Given the description of an element on the screen output the (x, y) to click on. 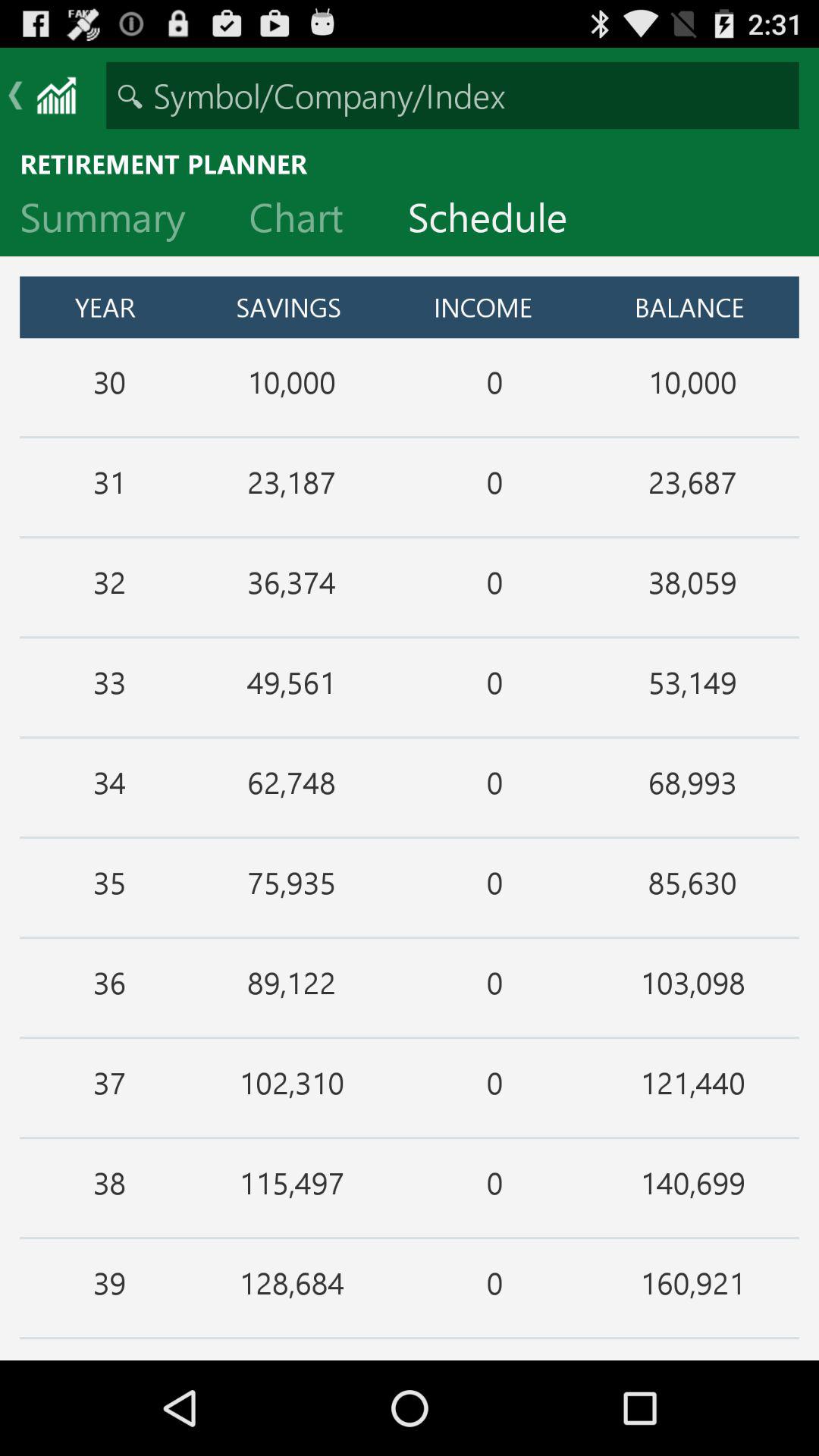
search for symbol company or index input box (452, 95)
